Given the description of an element on the screen output the (x, y) to click on. 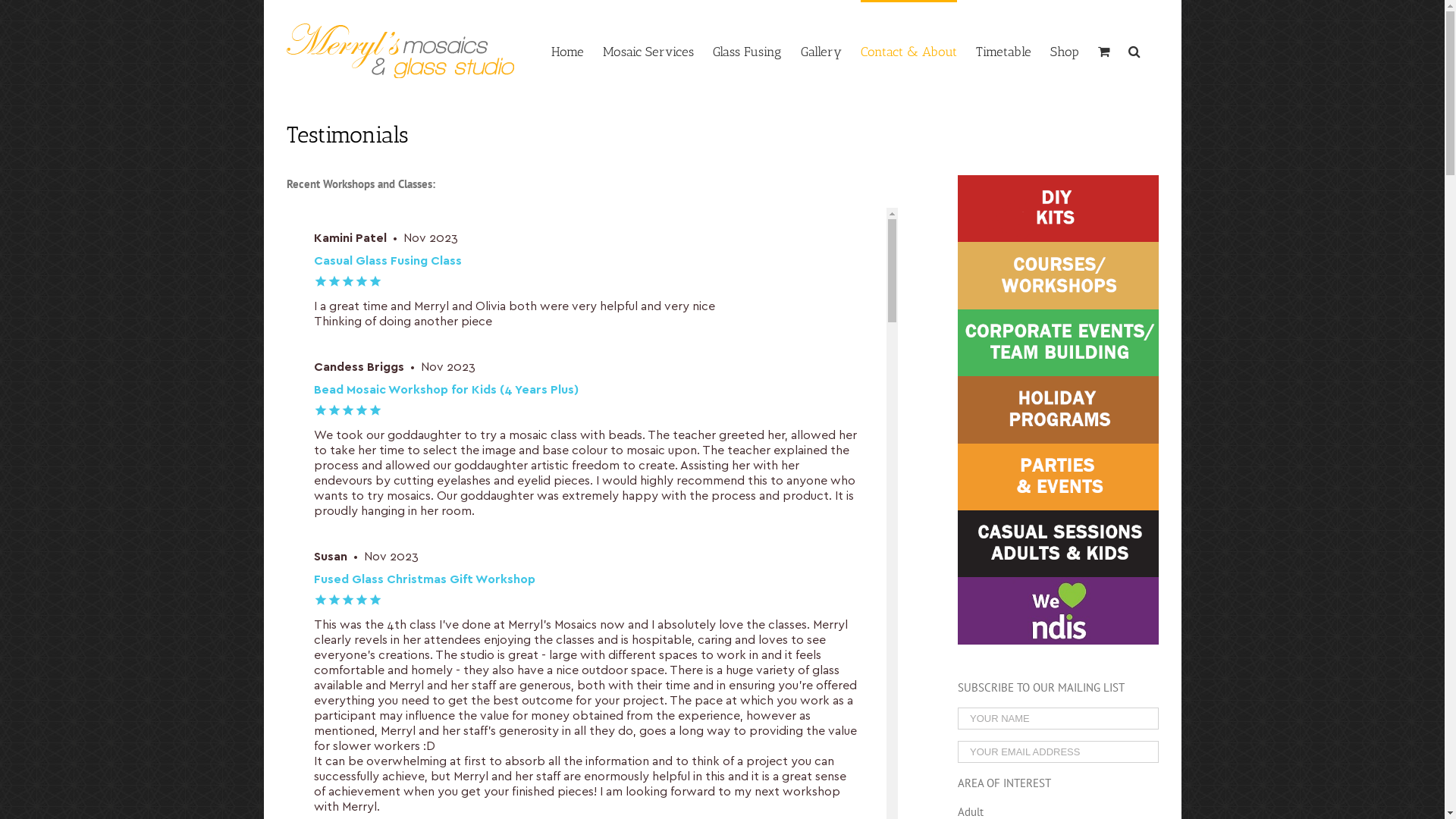
Mosaic Services Element type: text (647, 50)
Home Element type: text (566, 50)
Search Element type: hover (1133, 50)
Shop Element type: text (1063, 50)
Timetable Element type: text (1002, 50)
Gallery Element type: text (820, 50)
Glass Fusing Element type: text (746, 50)
Contact & About Element type: text (907, 50)
